Given the description of an element on the screen output the (x, y) to click on. 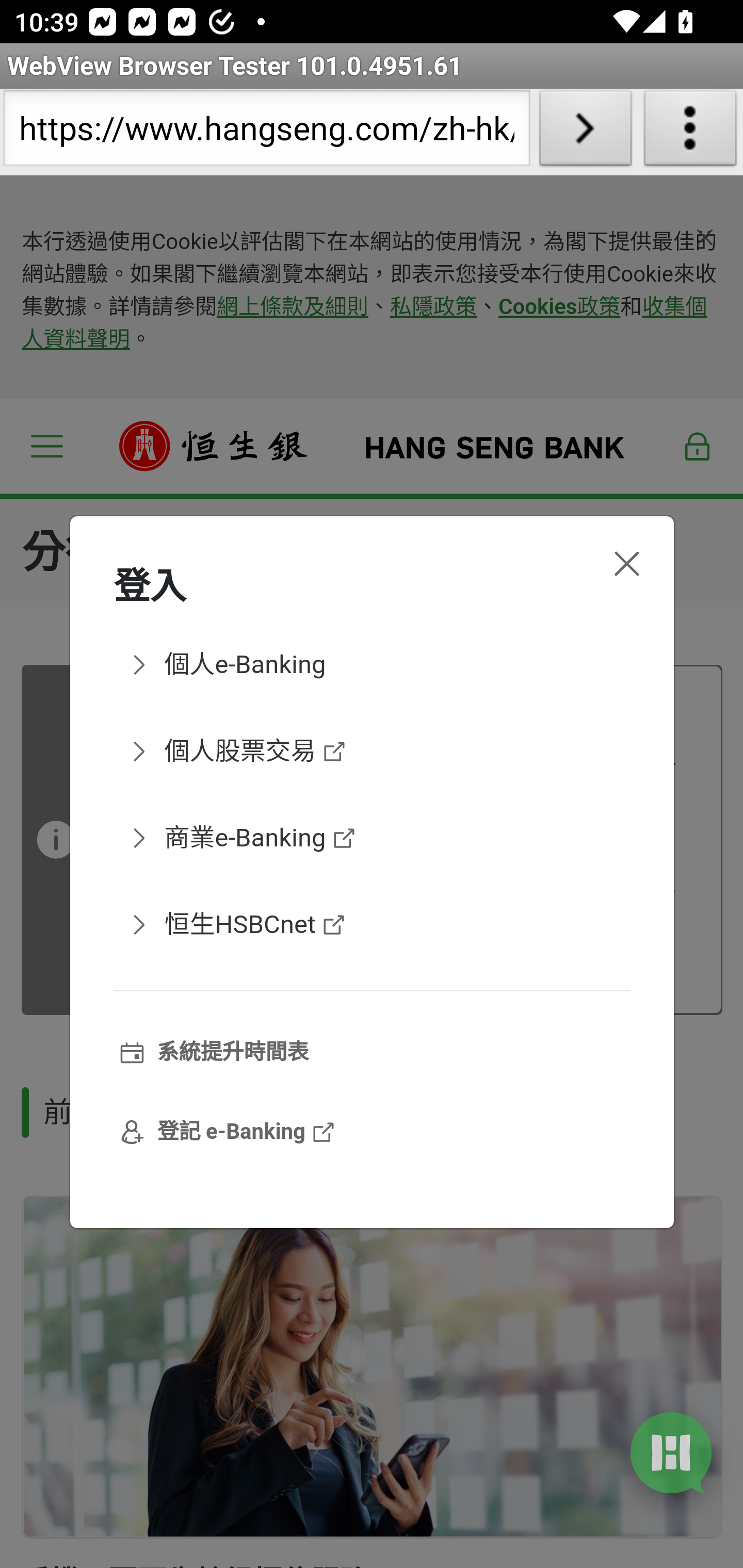
Load URL (585, 132)
About WebView (690, 132)
關閉 (626, 563)
個人e-Banking (372, 664)
個人股票交易 (於新視窗開啟) 個人股票交易 (372, 750)
商業e-Banking (於新視窗開啟) 商業e-Banking (372, 836)
恒生HSBCnet (於新視窗開啟) 恒生HSBCnet (372, 924)
系統提升時間表 (372, 1053)
登記 e-Banking (於新視窗開啟) 登記 e-Banking (372, 1132)
